Given the description of an element on the screen output the (x, y) to click on. 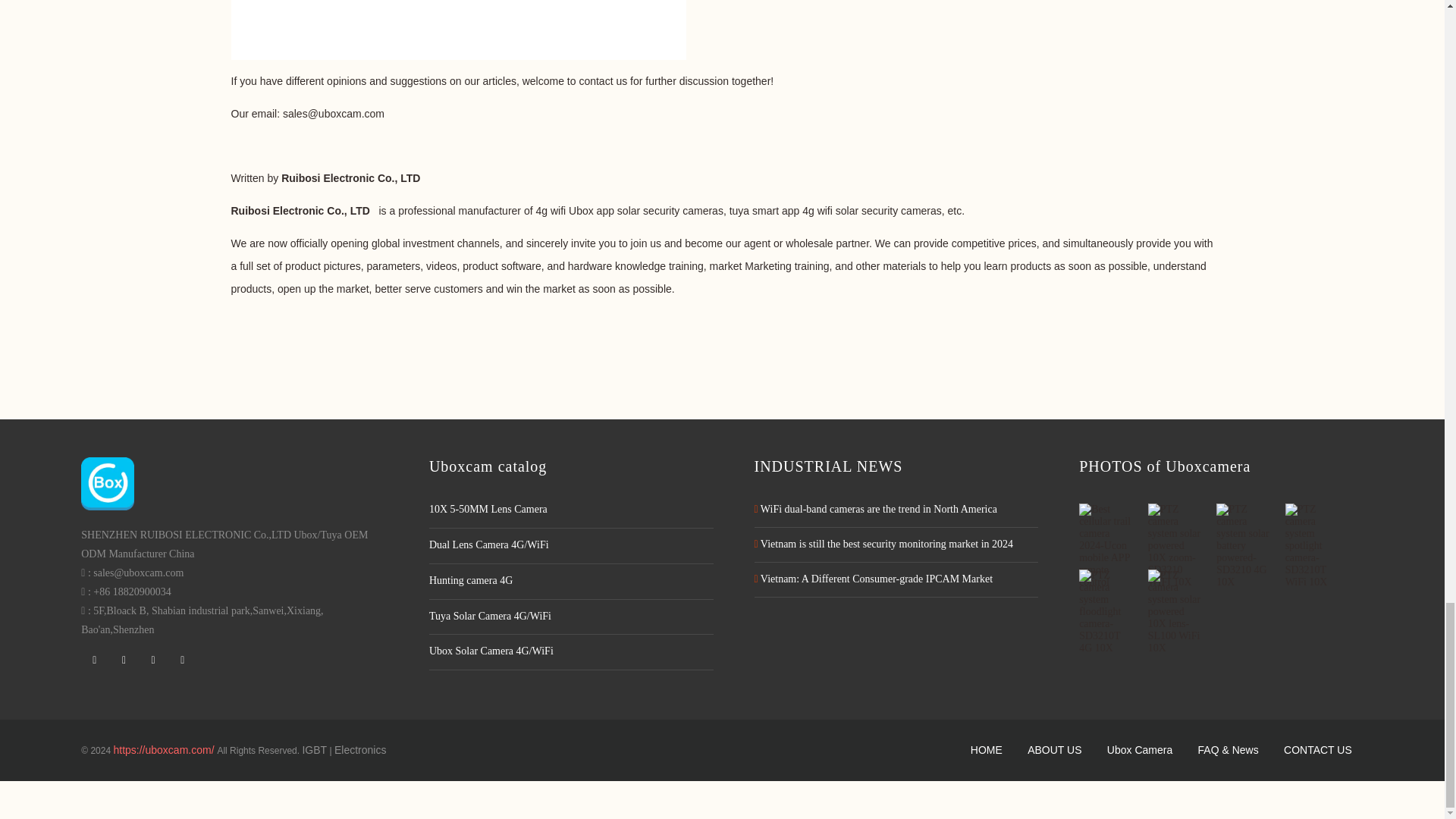
Vietnam: A Different Consumer-grade IPCAM Market (873, 578)
IGBT Distributor (313, 749)
Hunting camera 4G (571, 581)
Electronics (359, 749)
10X 5-50MM Lens Camera (571, 509)
IGBT (313, 749)
Vietnam is still the best security monitoring market in 2024 (883, 543)
WiFi dual-band cameras are the trend in North America (874, 509)
